Given the description of an element on the screen output the (x, y) to click on. 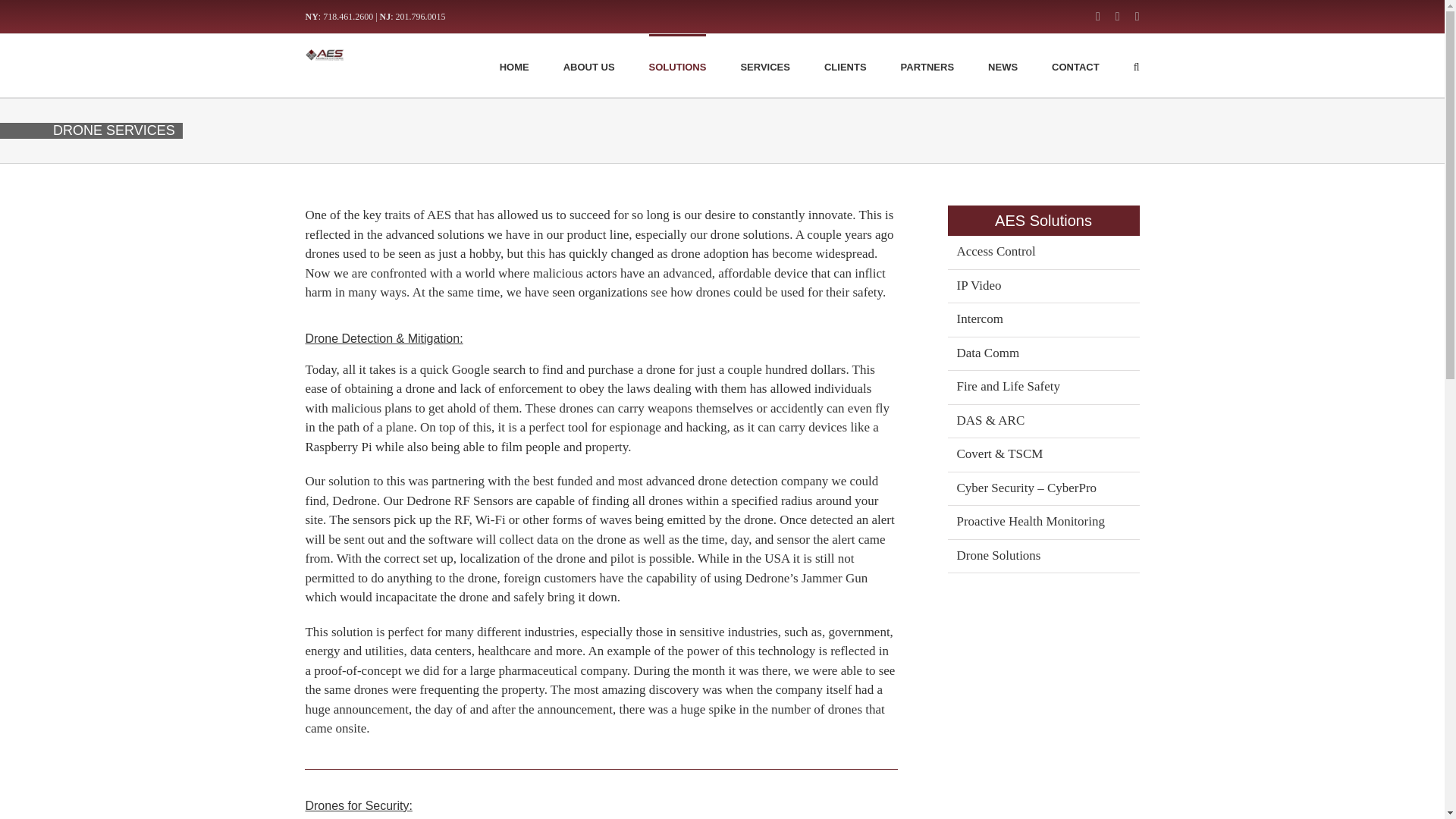
SOLUTIONS (677, 65)
